Given the description of an element on the screen output the (x, y) to click on. 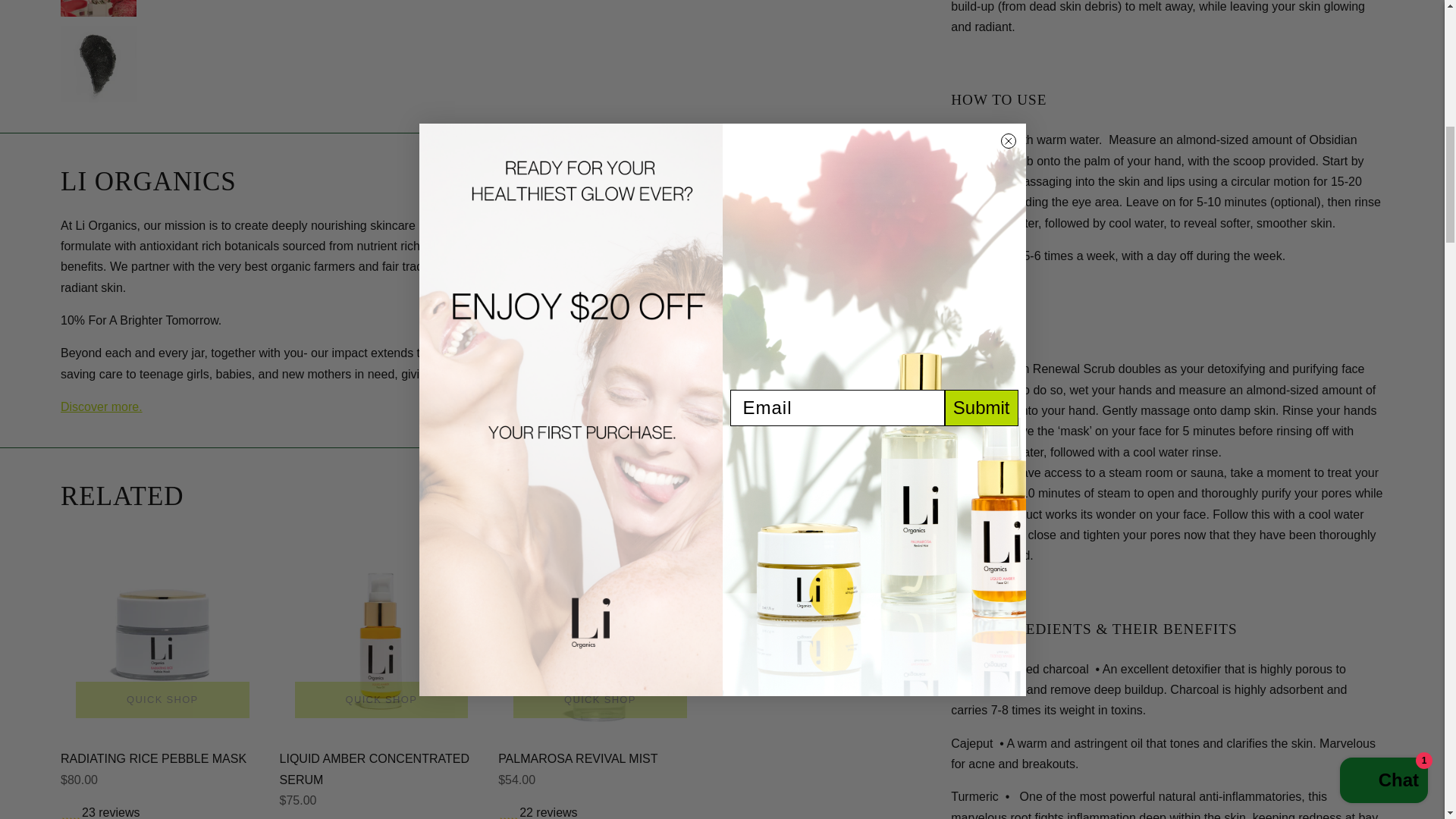
About Li Organics (101, 406)
